Given the description of an element on the screen output the (x, y) to click on. 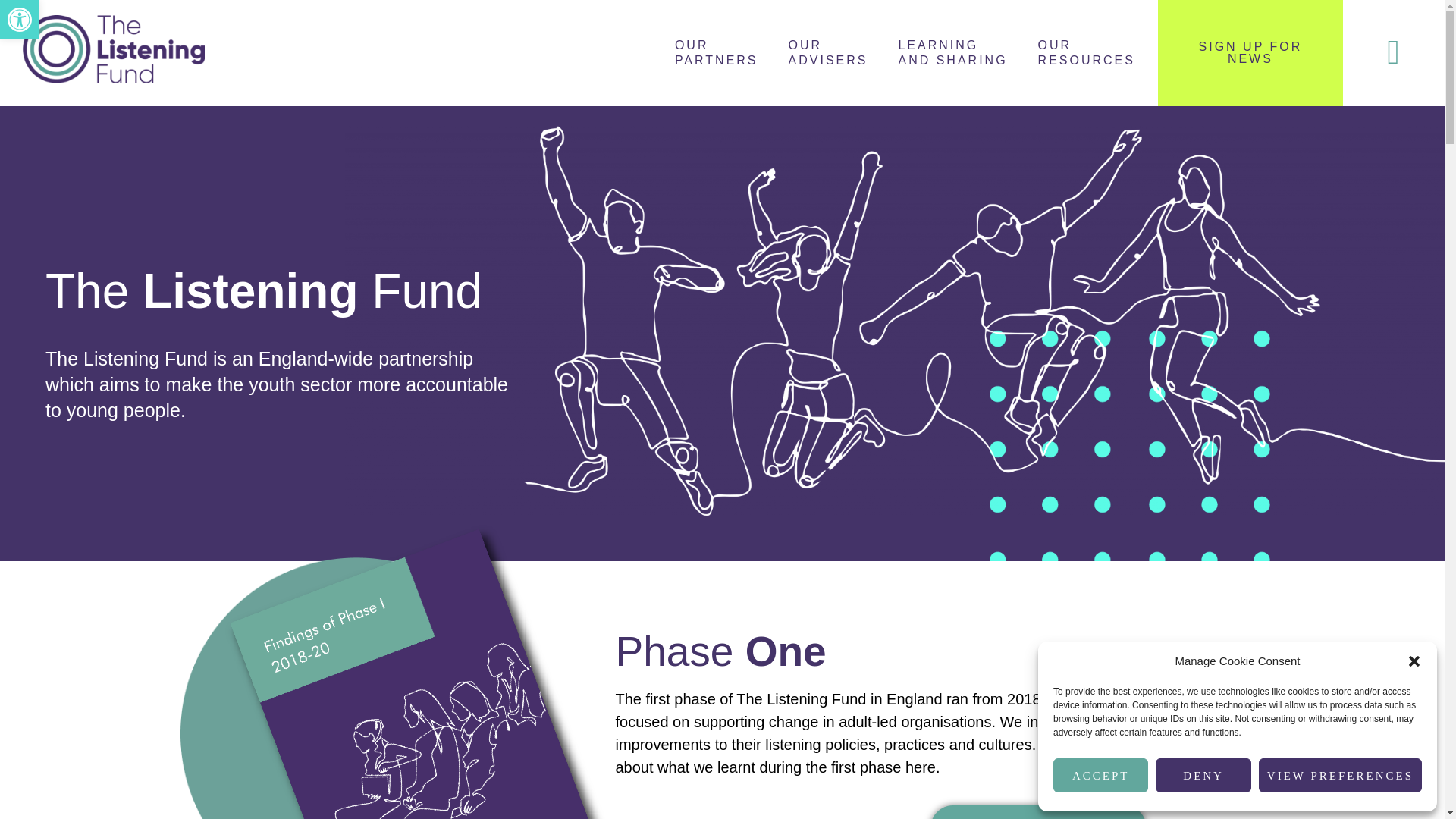
Accessibility Tools (19, 19)
SIGN UP FOR NEWS (828, 52)
Negative Contrast (1250, 52)
Decrease Text (1100, 775)
Grayscale (716, 52)
Reset (1086, 52)
